Given the description of an element on the screen output the (x, y) to click on. 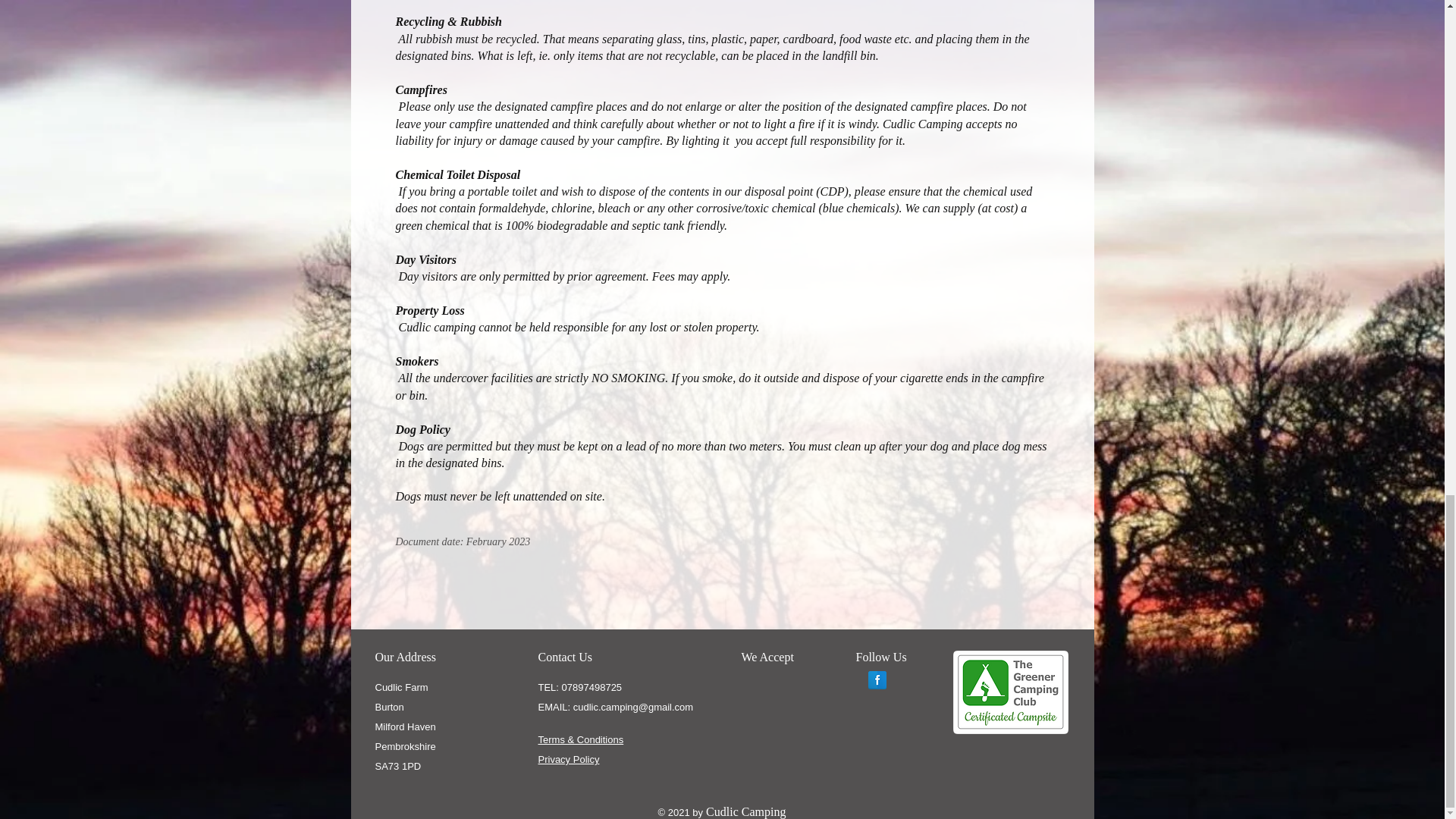
Privacy Policy (568, 758)
